Given the description of an element on the screen output the (x, y) to click on. 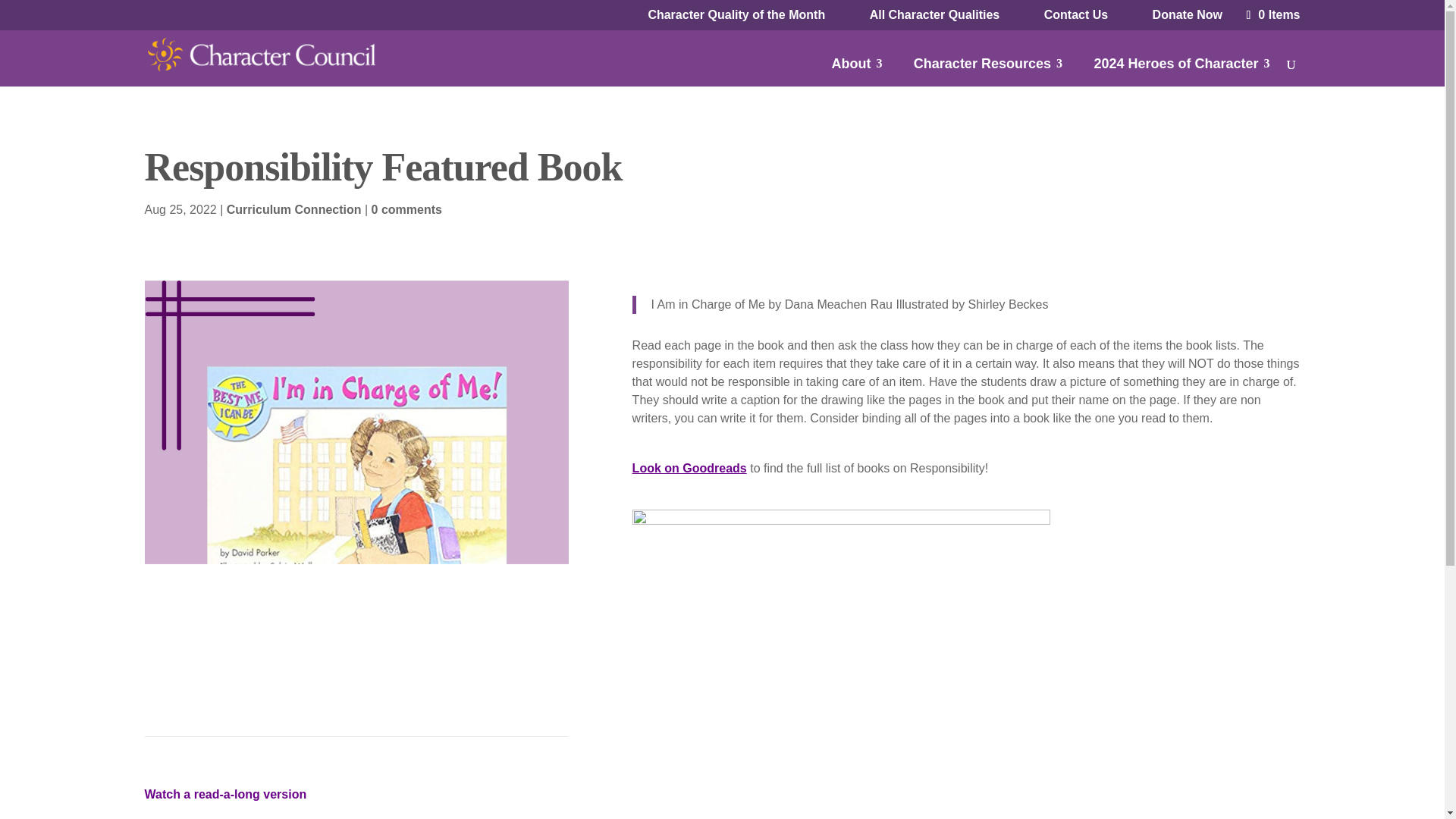
Character Quality of the Month (736, 15)
Curriculum Connection (294, 209)
2024 Heroes of Character (1181, 70)
About (856, 70)
Donate Now (1186, 15)
0 Items (1271, 14)
Character Resources (988, 70)
Look on Goodreads (688, 468)
0 comments (406, 209)
Watch a read-a-long version (224, 793)
